Given the description of an element on the screen output the (x, y) to click on. 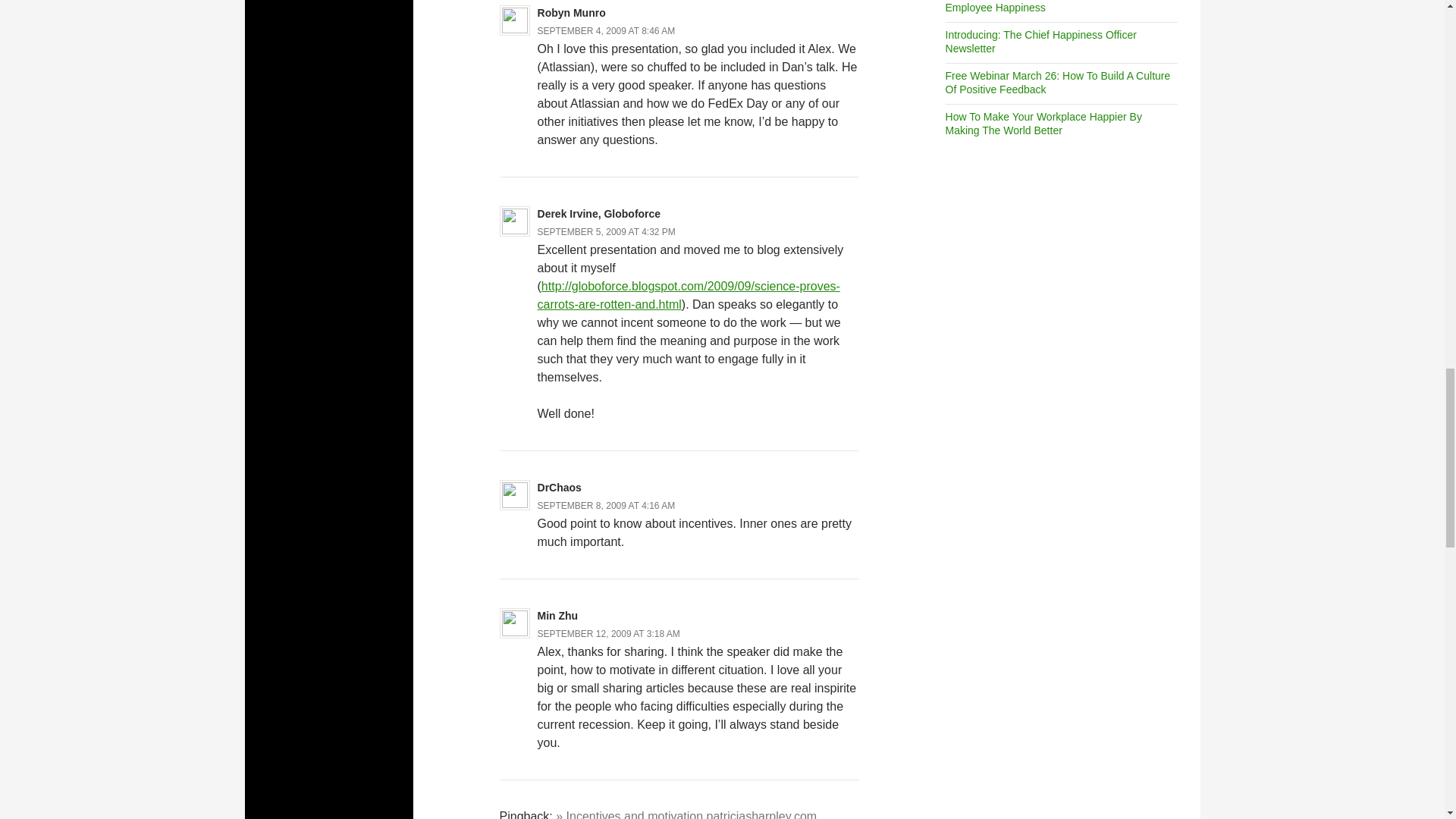
DrChaos (558, 487)
SEPTEMBER 8, 2009 AT 4:16 AM (606, 505)
SEPTEMBER 12, 2009 AT 3:18 AM (608, 633)
SEPTEMBER 4, 2009 AT 8:46 AM (606, 30)
Robyn Munro (571, 12)
SEPTEMBER 5, 2009 AT 4:32 PM (606, 231)
Derek Irvine, Globoforce (599, 214)
